Given the description of an element on the screen output the (x, y) to click on. 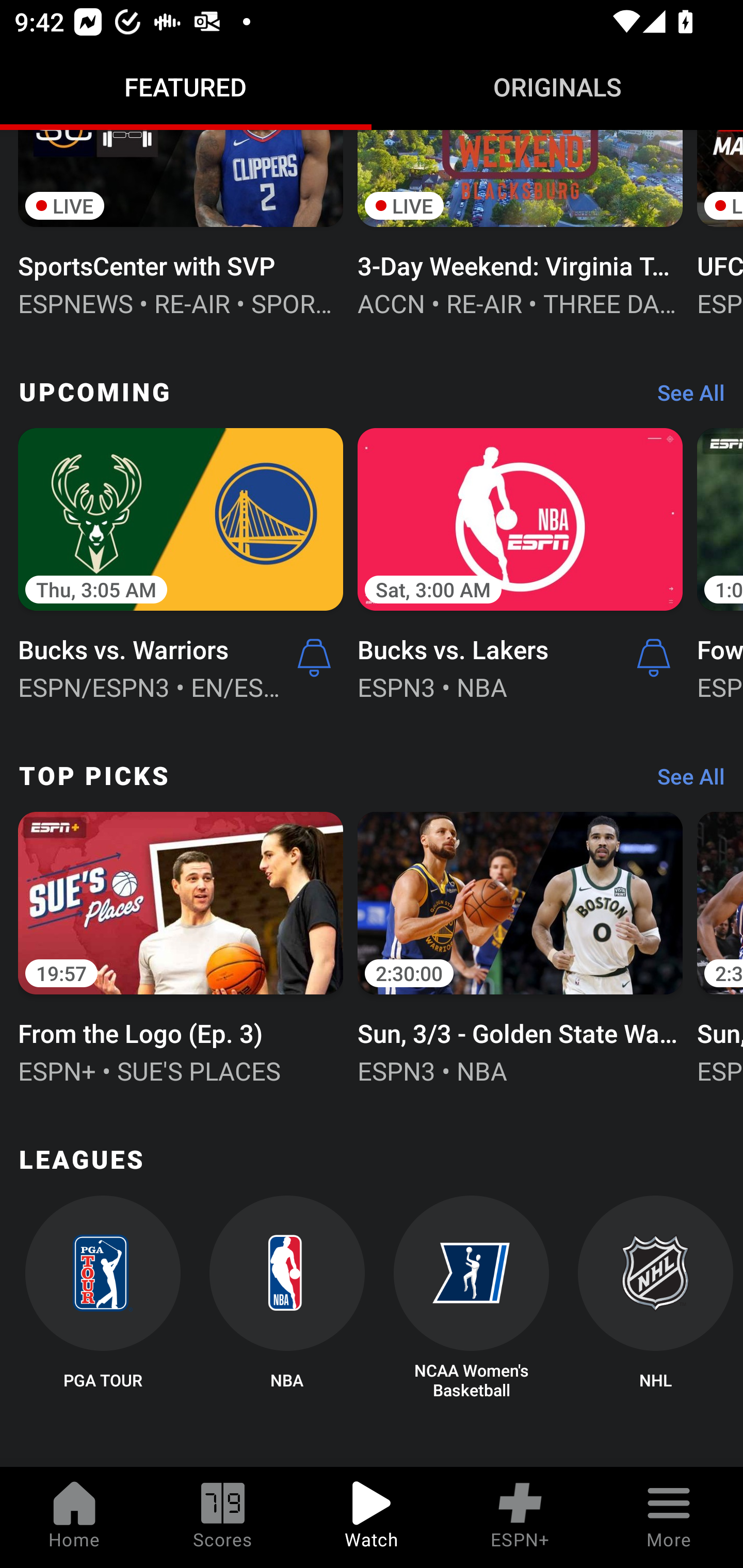
Originals ORIGINALS (557, 86)
See All (683, 397)
Alerts (314, 657)
Alerts (653, 657)
See All (683, 781)
19:57 From the Logo (Ep. 3) ESPN+ • SUE'S PLACES (180, 946)
PGA TOUR (102, 1297)
NBA (286, 1297)
NCAA Women's Basketball (471, 1297)
NHL (655, 1297)
Home (74, 1517)
Scores (222, 1517)
ESPN+ (519, 1517)
More (668, 1517)
